Given the description of an element on the screen output the (x, y) to click on. 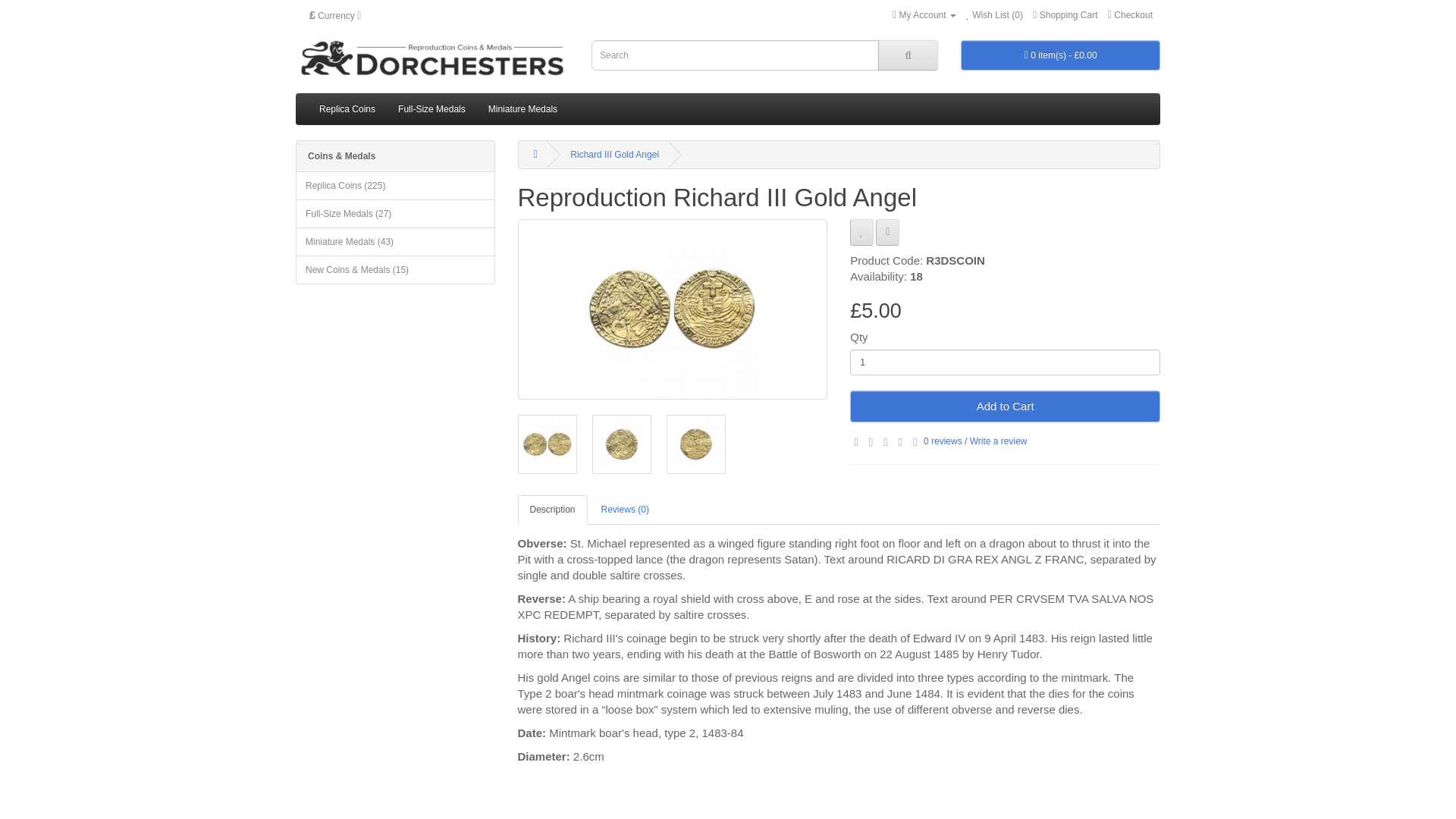
Richard III Gold Angel (671, 309)
Shopping Cart (1064, 14)
Richard III Gold Angel (620, 444)
Shopping Cart (1064, 14)
Checkout (1130, 14)
Richard III Gold Angel (546, 444)
Richard III Gold Angel (695, 444)
Replica Coins (347, 109)
Add to Wish List (861, 231)
Richard III Gold Angel (620, 444)
